Given the description of an element on the screen output the (x, y) to click on. 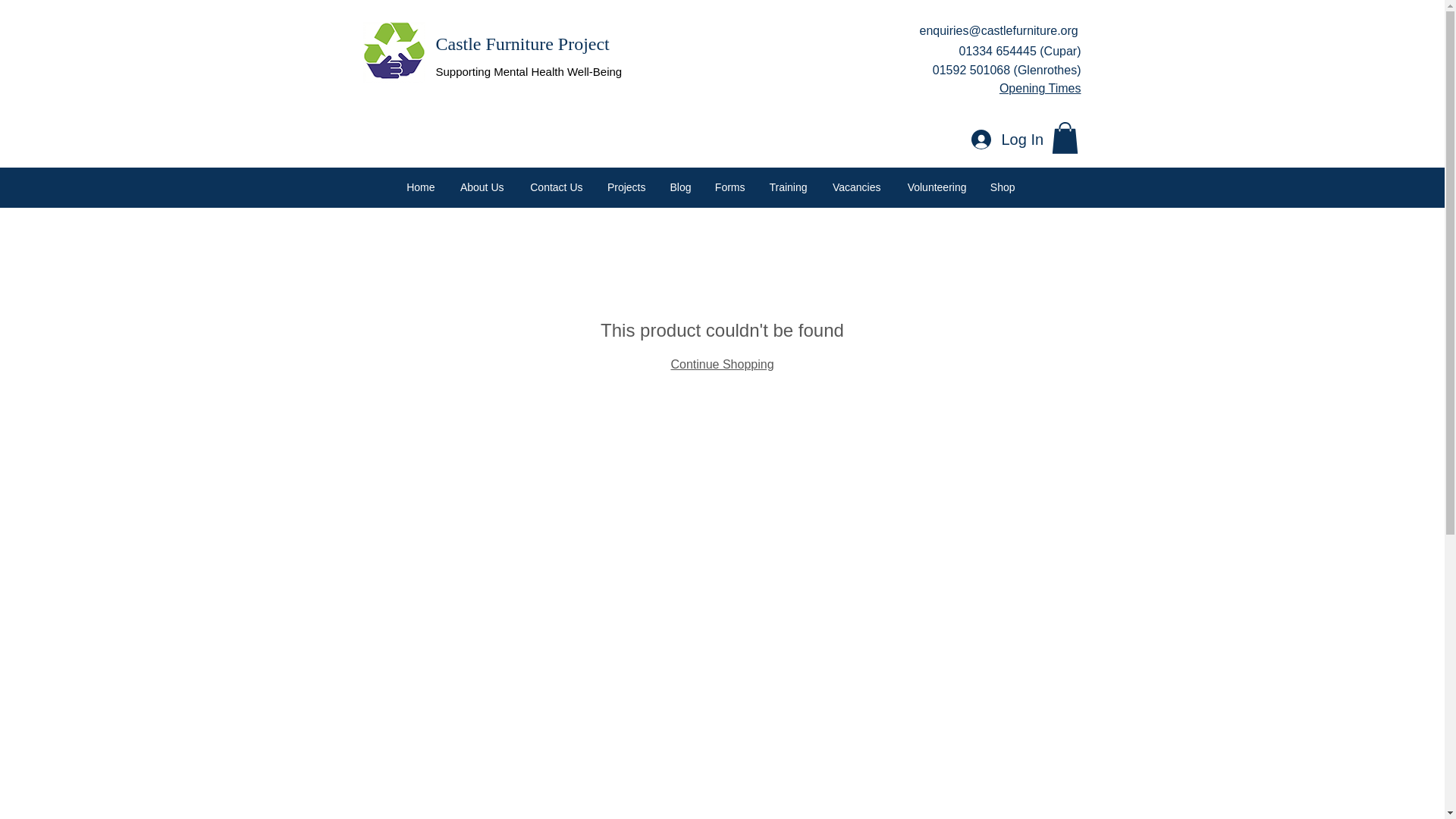
Vacancies (855, 187)
Opening Times (1039, 88)
Projects (626, 187)
About Us (480, 187)
Contact Us (554, 187)
Blog (678, 187)
Castle Furniture Project Logo (393, 52)
Home (420, 187)
Training (787, 187)
Forms (728, 187)
